Given the description of an element on the screen output the (x, y) to click on. 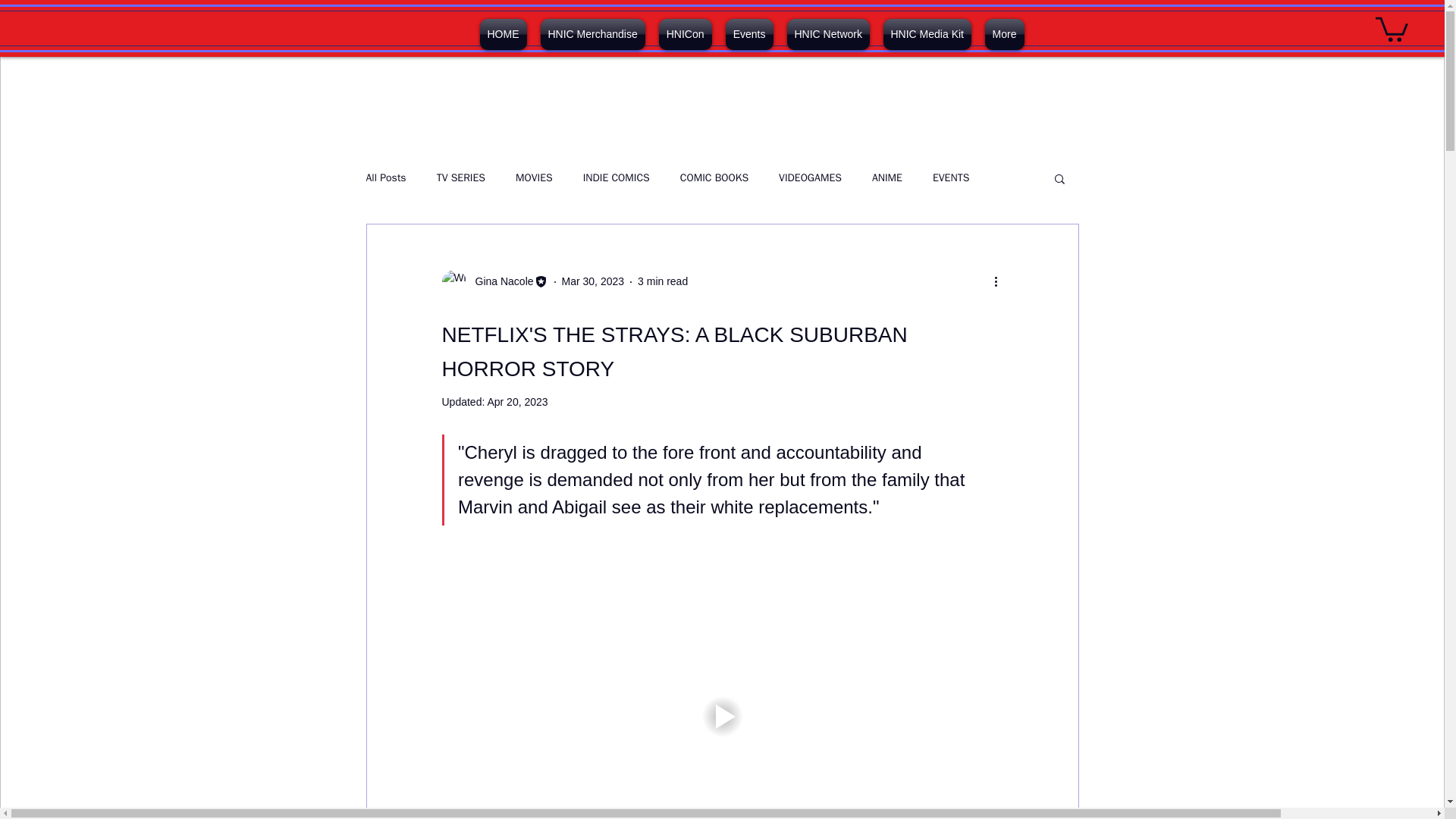
HOME (503, 33)
Gina Nacole (498, 281)
HNIC Media Kit (927, 33)
HNIC Merchandise (593, 33)
3 min read (662, 281)
HNIC Network (827, 33)
Events (749, 33)
HNICon (685, 33)
Apr 20, 2023 (516, 401)
Mar 30, 2023 (593, 281)
